Given the description of an element on the screen output the (x, y) to click on. 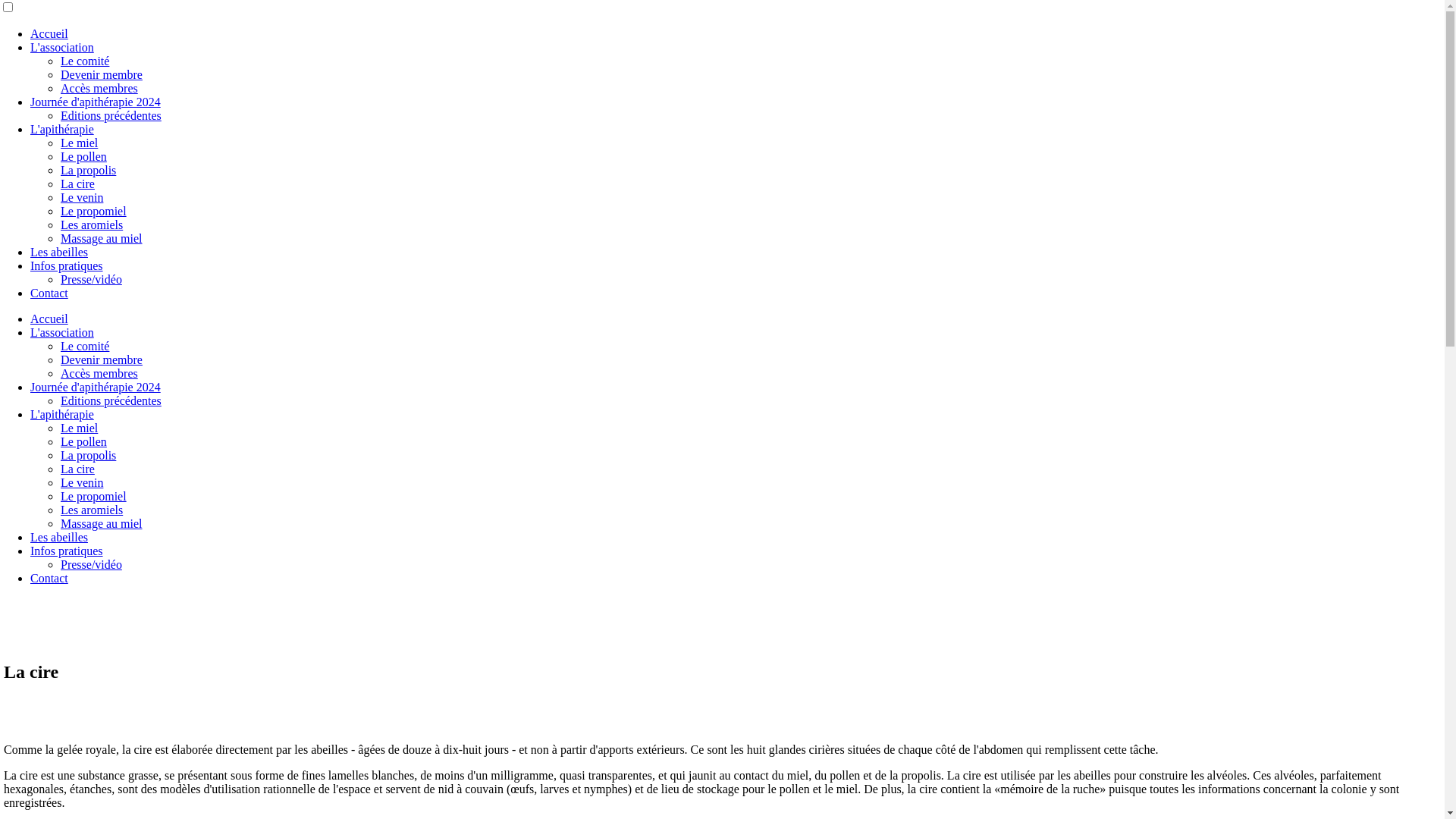
Les abeilles Element type: text (58, 251)
Massage au miel Element type: text (101, 238)
Le propomiel Element type: text (93, 210)
Le pollen Element type: text (83, 156)
Accueil Element type: text (49, 33)
Le venin Element type: text (81, 197)
L'association Element type: text (62, 46)
La propolis Element type: text (88, 169)
Les aromiels Element type: text (91, 509)
Devenir membre Element type: text (101, 359)
Contact Element type: text (49, 292)
L'association Element type: text (62, 332)
Le miel Element type: text (78, 427)
Massage au miel Element type: text (101, 523)
Le miel Element type: text (78, 142)
Accueil Element type: text (49, 318)
Infos pratiques Element type: text (66, 265)
La cire Element type: text (77, 183)
Les abeilles Element type: text (58, 536)
Devenir membre Element type: text (101, 74)
La propolis Element type: text (88, 454)
Infos pratiques Element type: text (66, 550)
Contact Element type: text (49, 577)
Le pollen Element type: text (83, 441)
Le venin Element type: text (81, 482)
La cire Element type: text (77, 468)
Le propomiel Element type: text (93, 495)
Les aromiels Element type: text (91, 224)
